Given the description of an element on the screen output the (x, y) to click on. 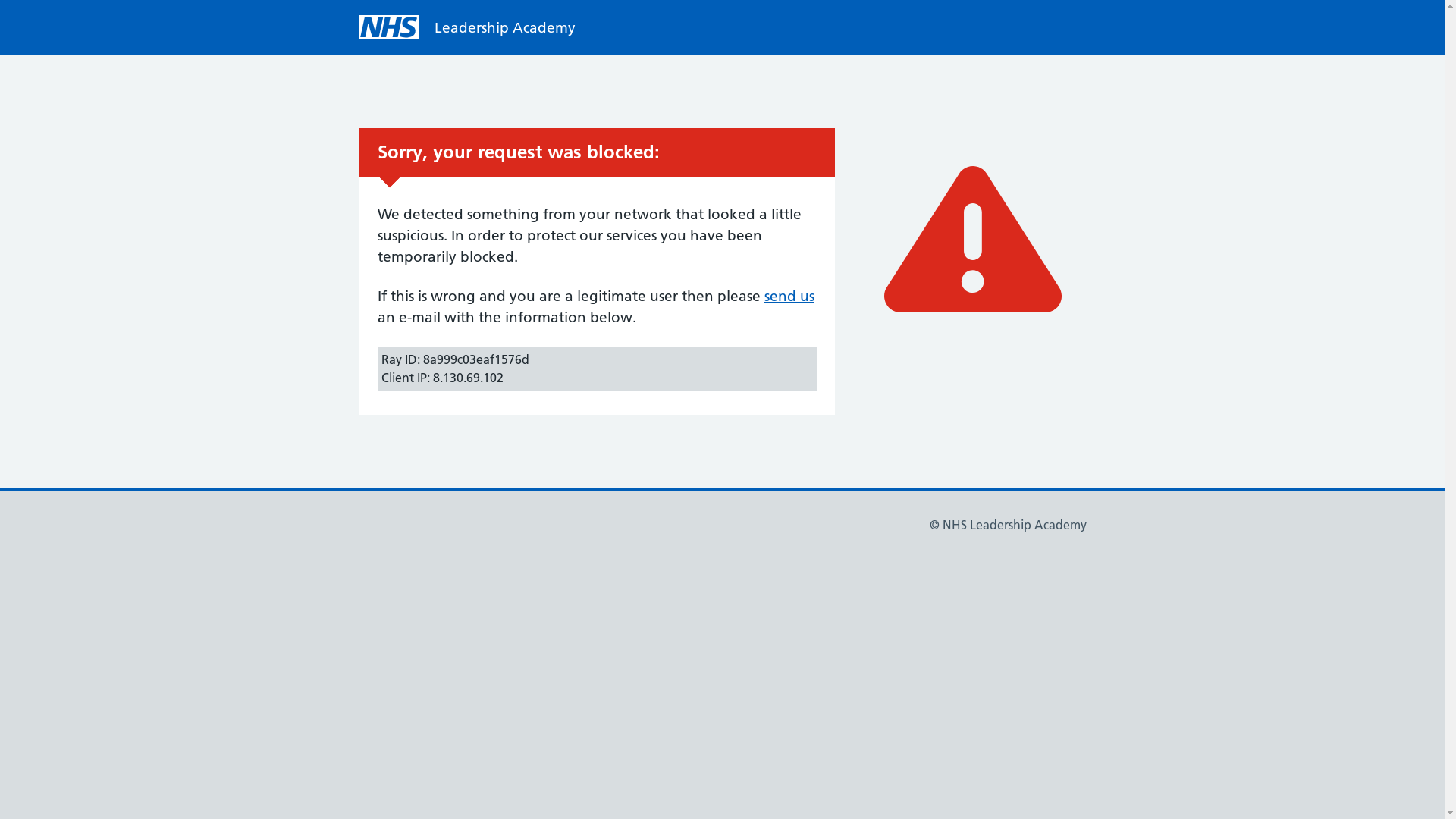
send us (788, 295)
Leadership Academy (504, 27)
